Given the description of an element on the screen output the (x, y) to click on. 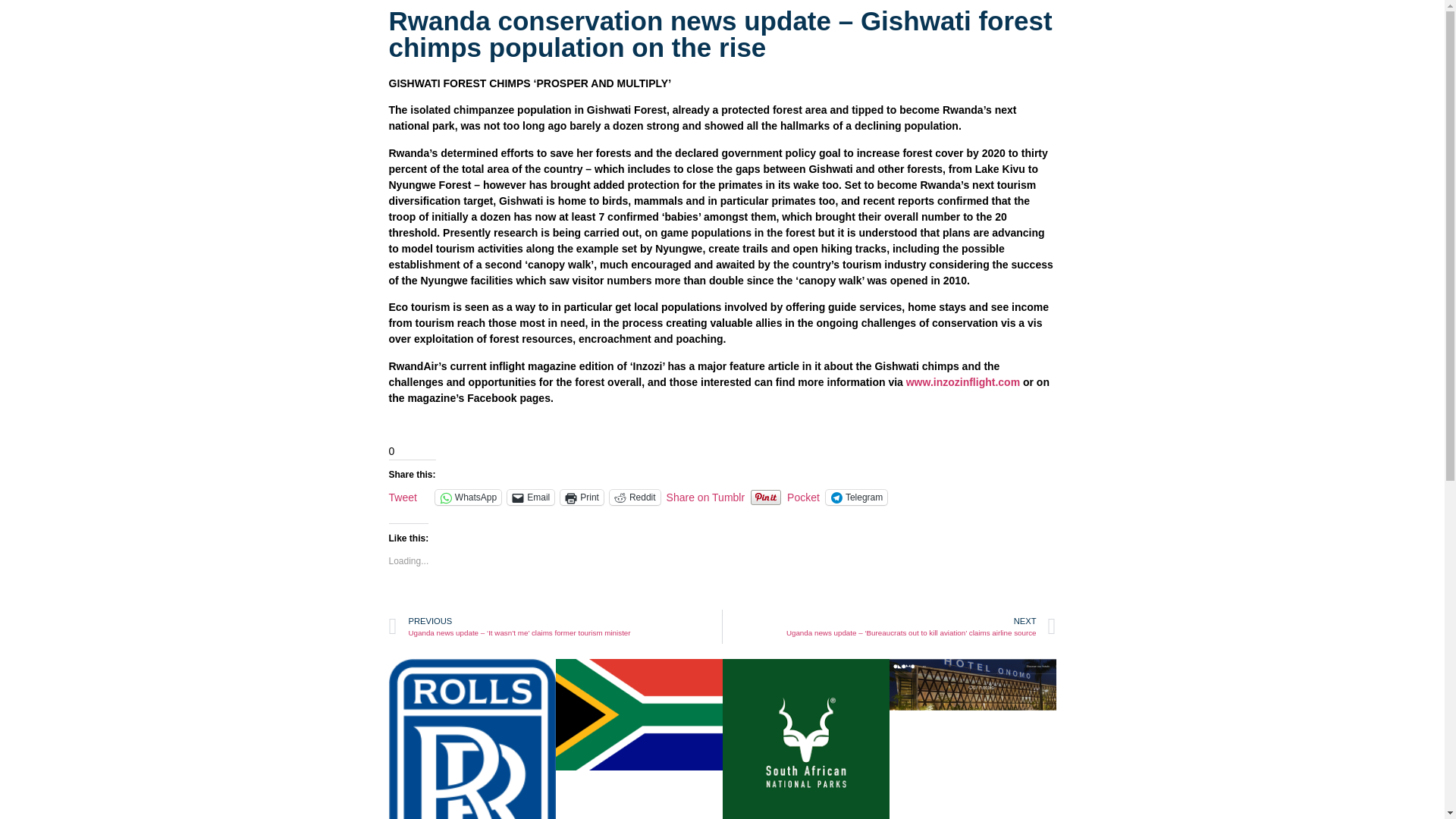
Click to share on Reddit (635, 497)
Click to share on Telegram (855, 497)
Tweet (402, 496)
Click to email a link to a friend (530, 497)
Reddit (635, 497)
Telegram (855, 497)
Click to share on WhatsApp (467, 497)
WhatsApp (467, 497)
Pocket (803, 497)
Share on Tumblr (705, 496)
Share on Tumblr (705, 496)
Click to print (582, 497)
Email (530, 497)
www.inzozinflight.com (962, 381)
Print (582, 497)
